Given the description of an element on the screen output the (x, y) to click on. 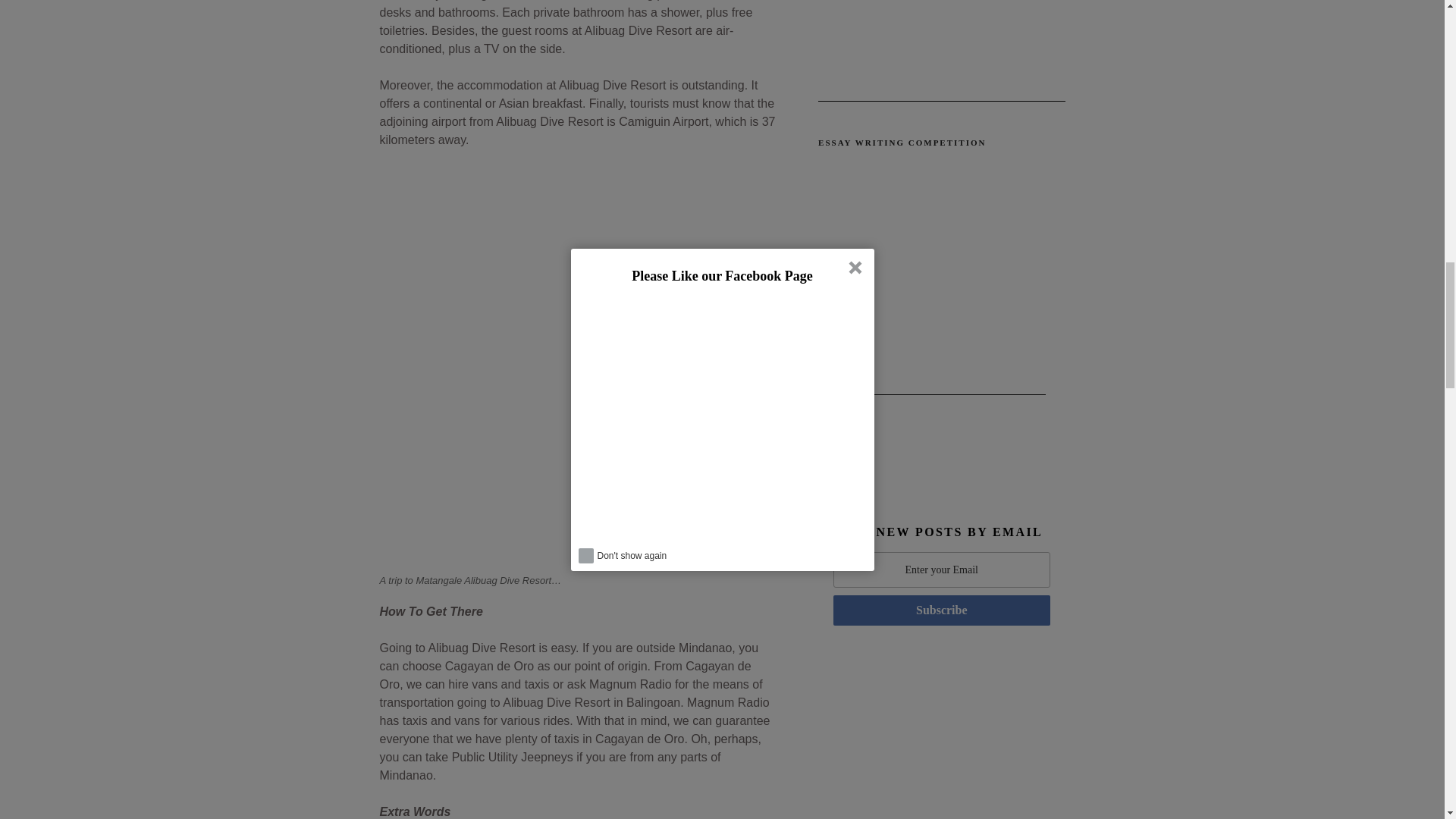
Subscribe (940, 610)
